Given the description of an element on the screen output the (x, y) to click on. 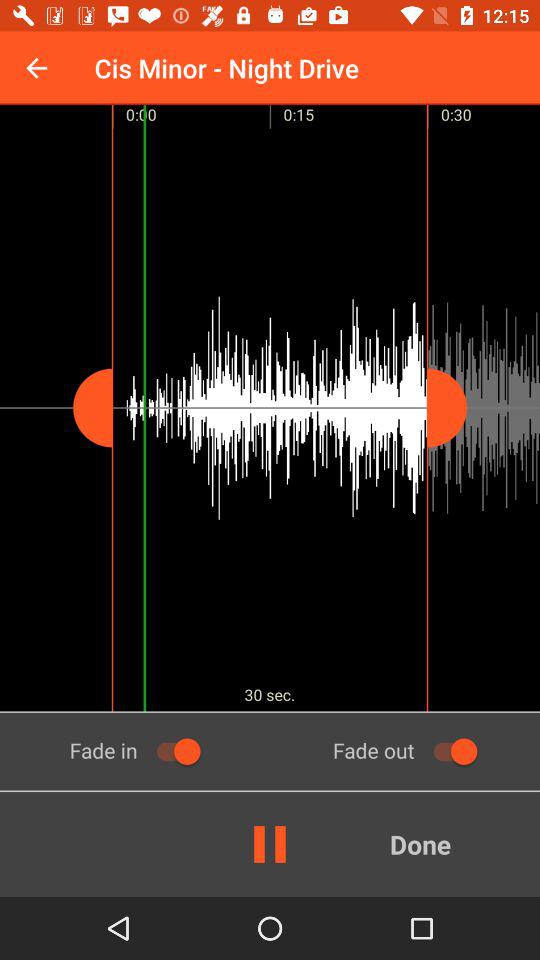
press the icon to the left of cis minor night (36, 68)
